Given the description of an element on the screen output the (x, y) to click on. 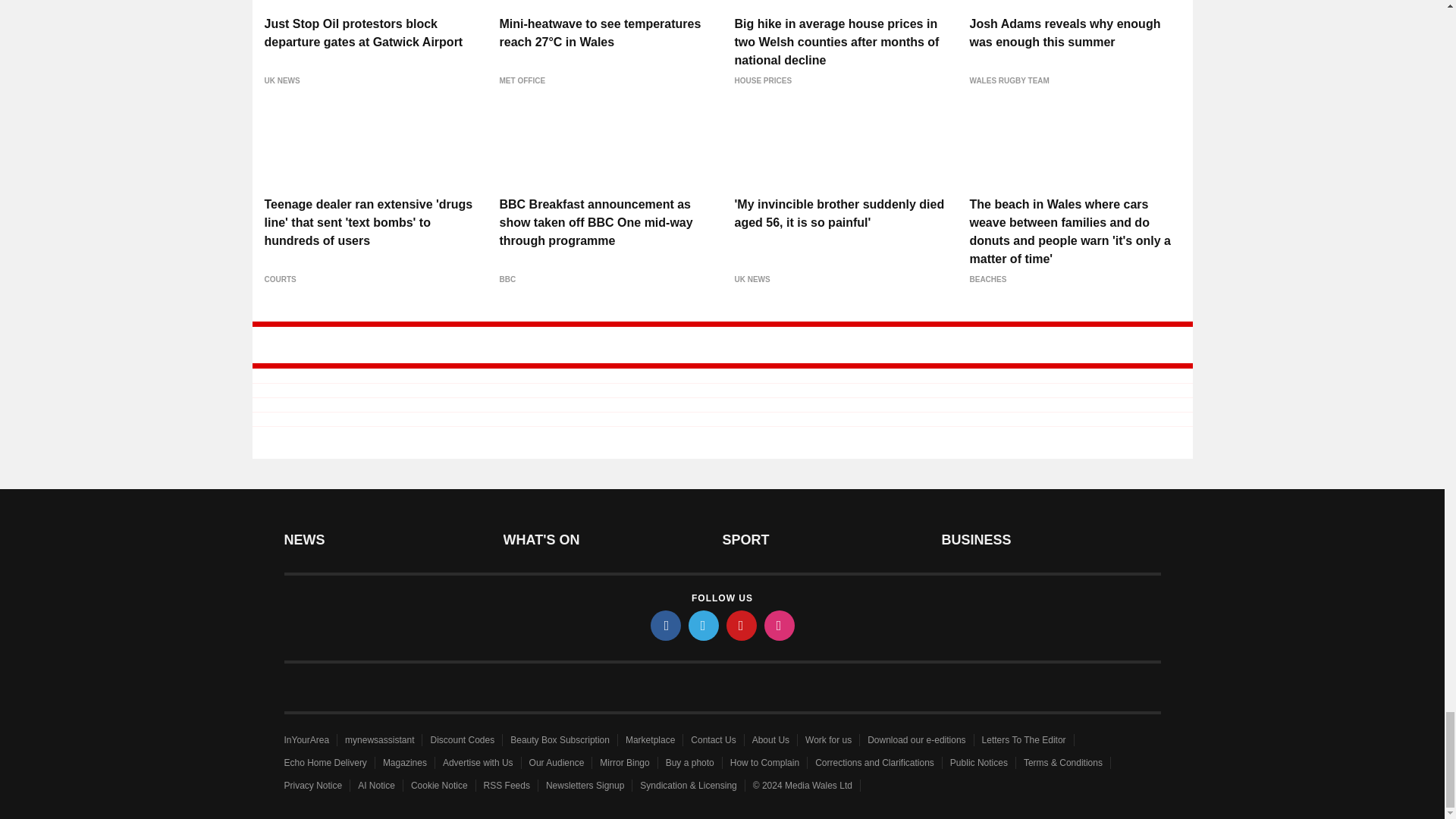
pinterest (741, 625)
instagram (779, 625)
twitter (703, 625)
facebook (665, 625)
